Given the description of an element on the screen output the (x, y) to click on. 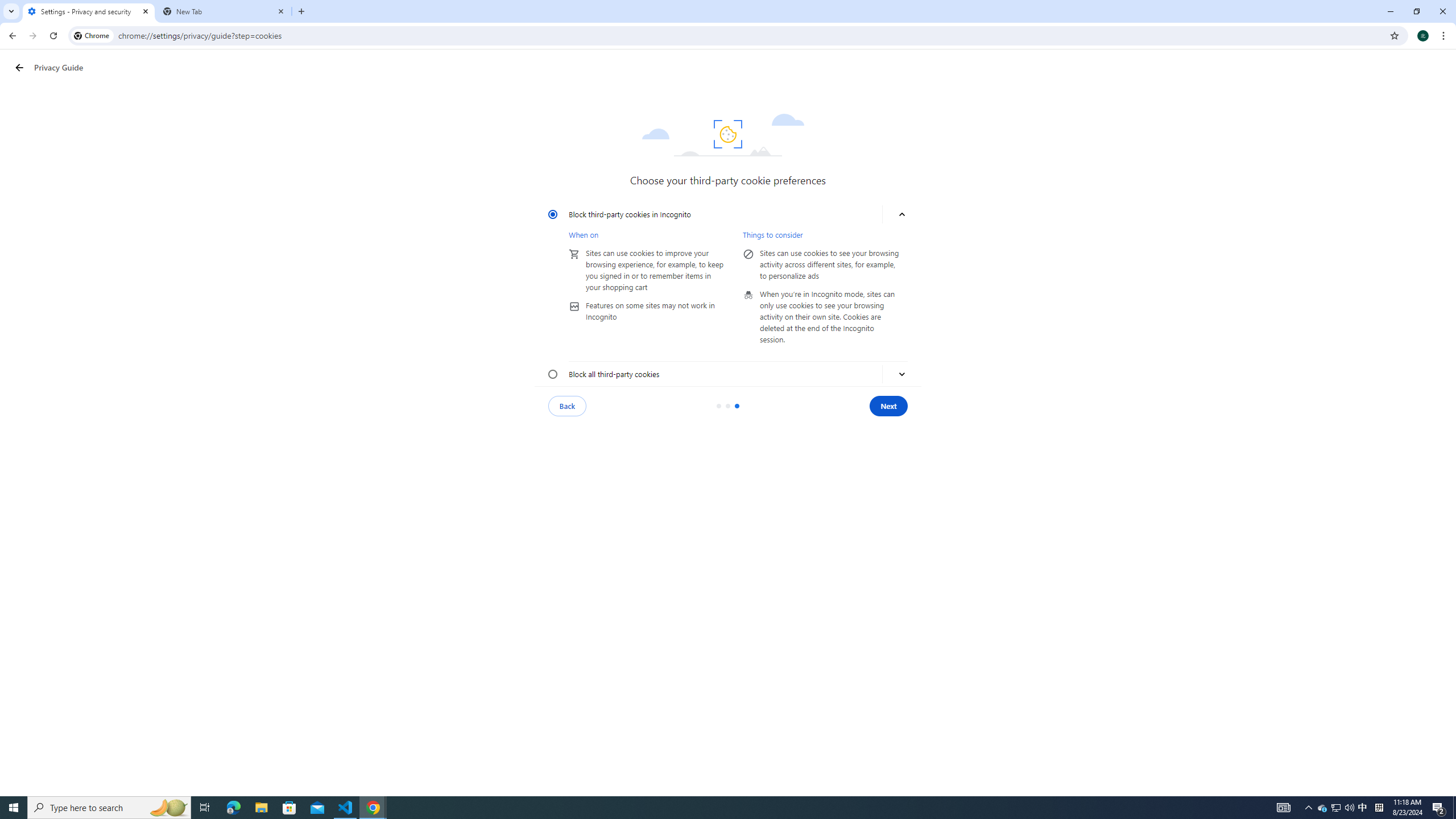
More about blocking third-party cookies in Incognito mode (901, 214)
Next (888, 405)
Settings - Privacy and security (88, 11)
